Given the description of an element on the screen output the (x, y) to click on. 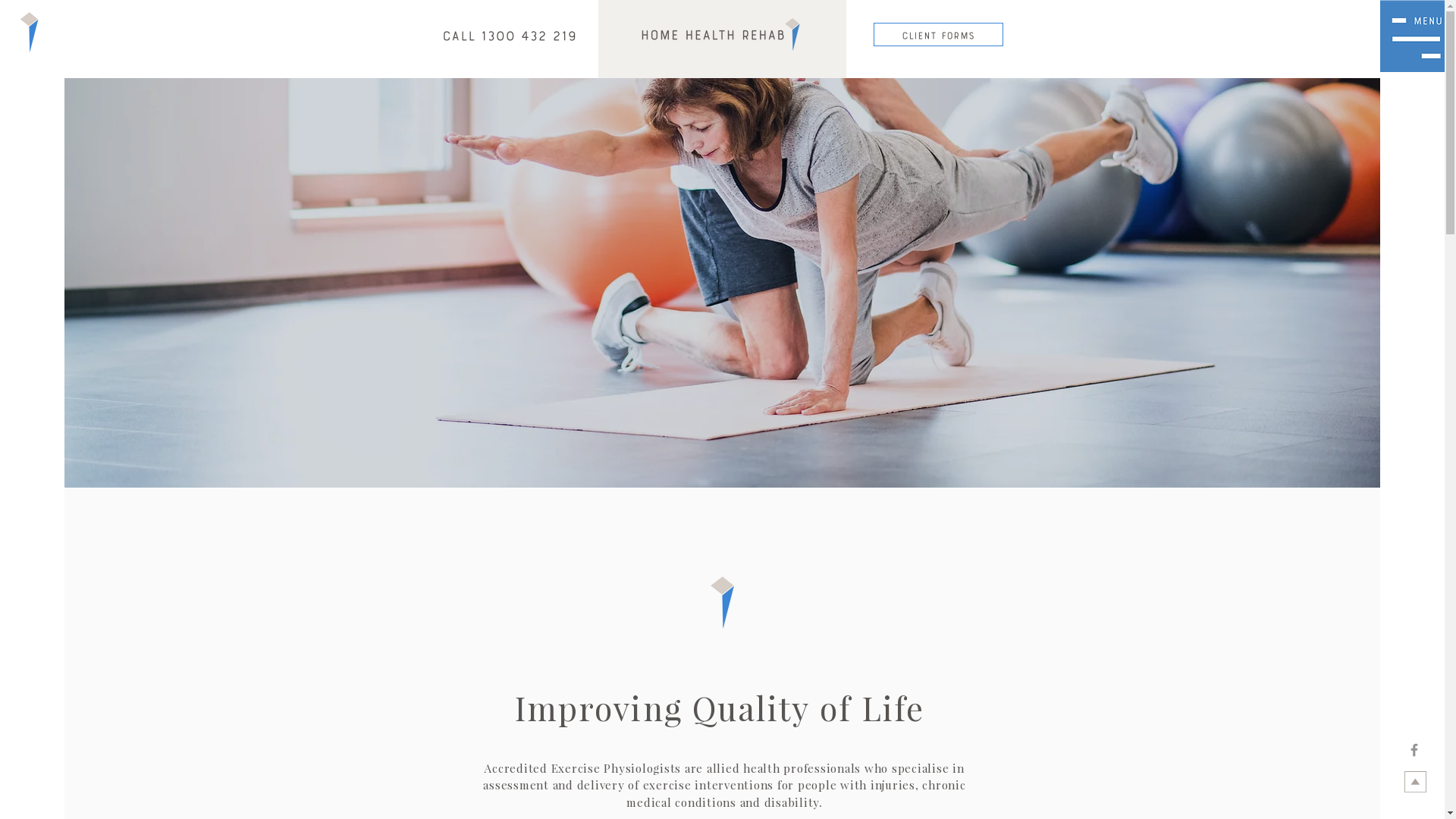
CLIENT FORMS Element type: text (938, 34)
CALL 1300 432 219 Element type: text (508, 35)
